Given the description of an element on the screen output the (x, y) to click on. 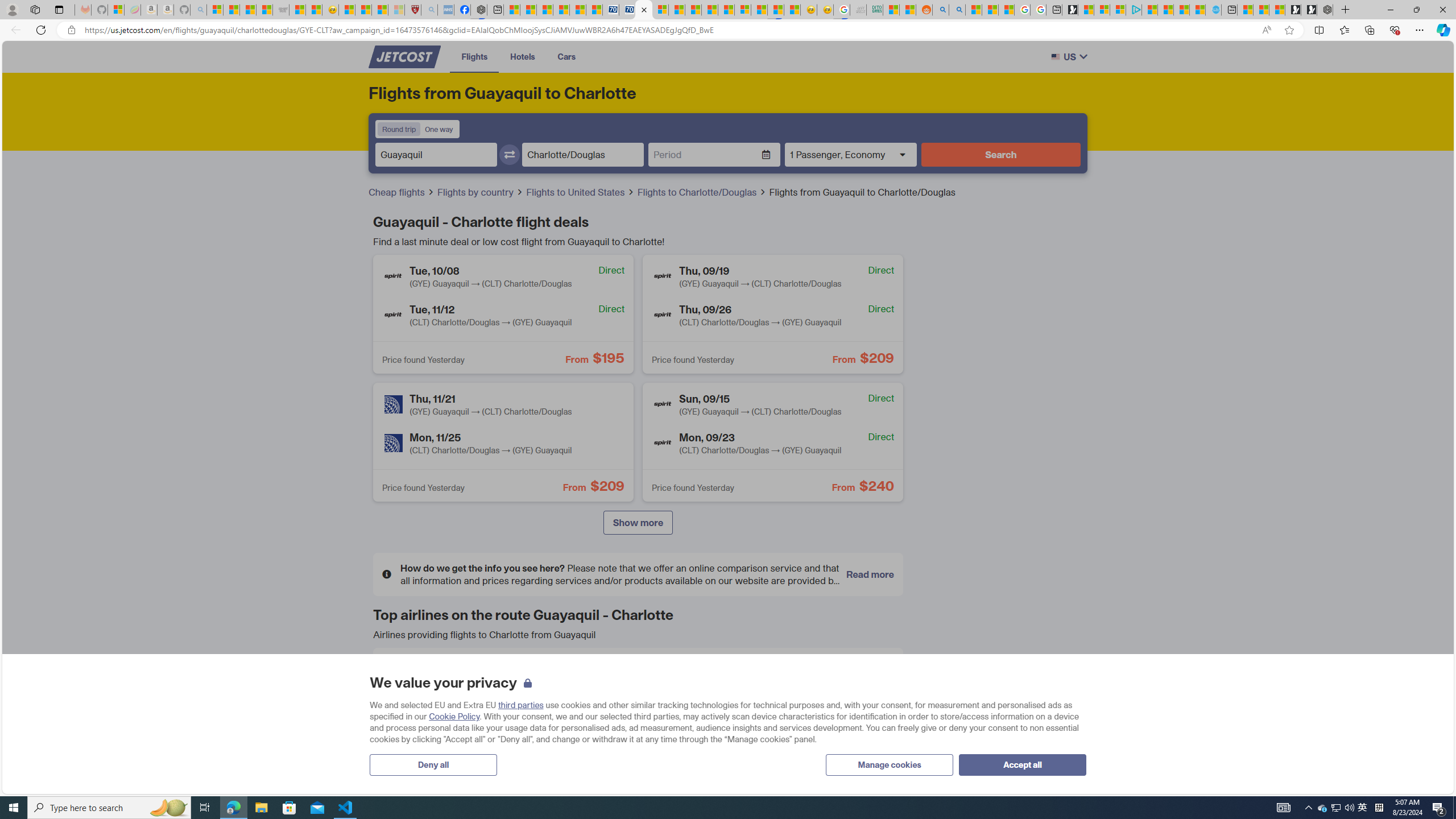
Departure place (436, 154)
Flights to Charlotte/Douglas (702, 191)
Class: no-underline cursor-pointer (404, 56)
Class: absolute inset-0 (772, 441)
Avianca Avianca (638, 675)
